Given the description of an element on the screen output the (x, y) to click on. 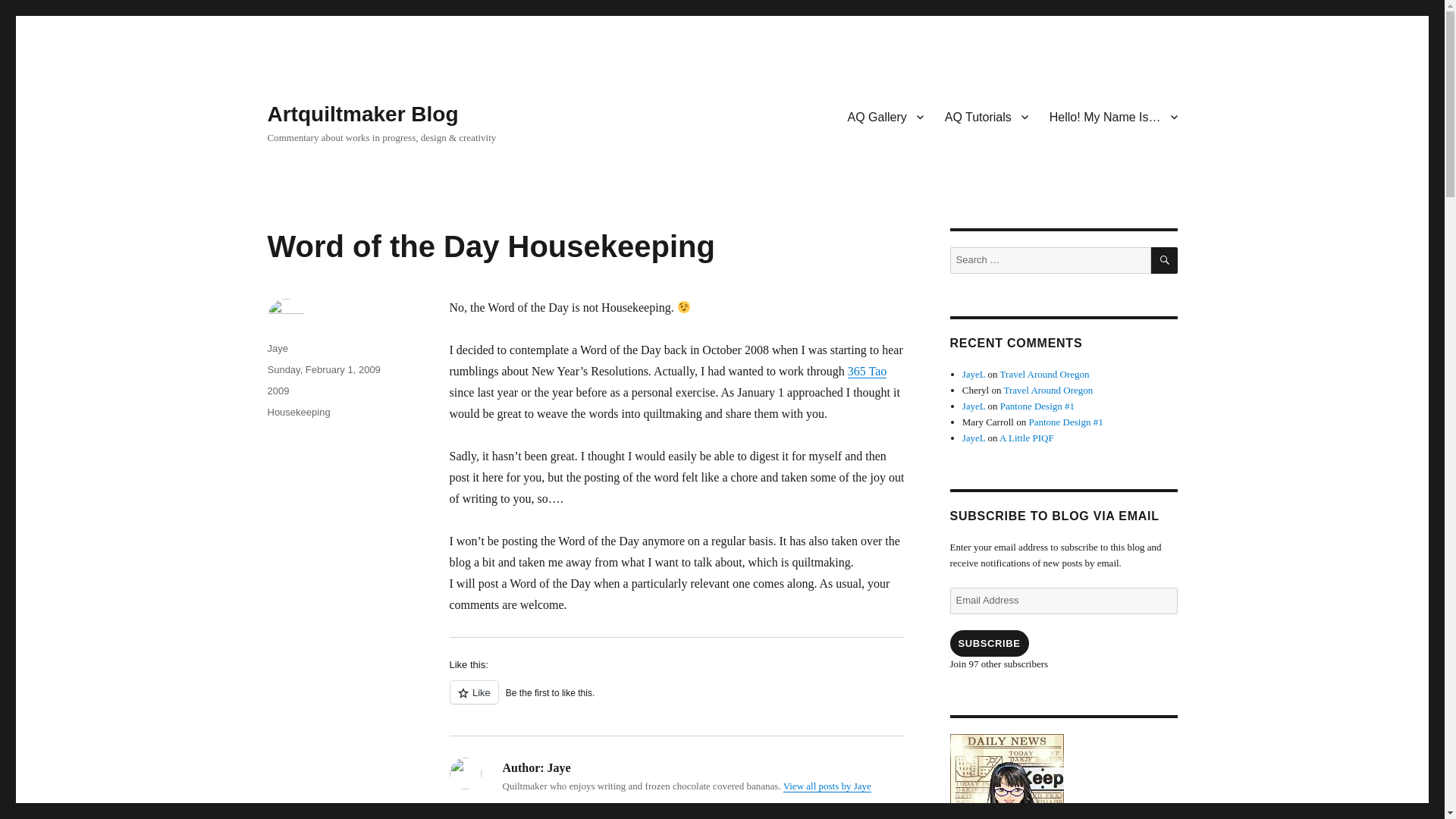
AQ Gallery (885, 116)
Artquiltmaker Blog (362, 114)
Jaye, Artquiltmaker.com (1062, 776)
Like or Reblog (676, 700)
